Given the description of an element on the screen output the (x, y) to click on. 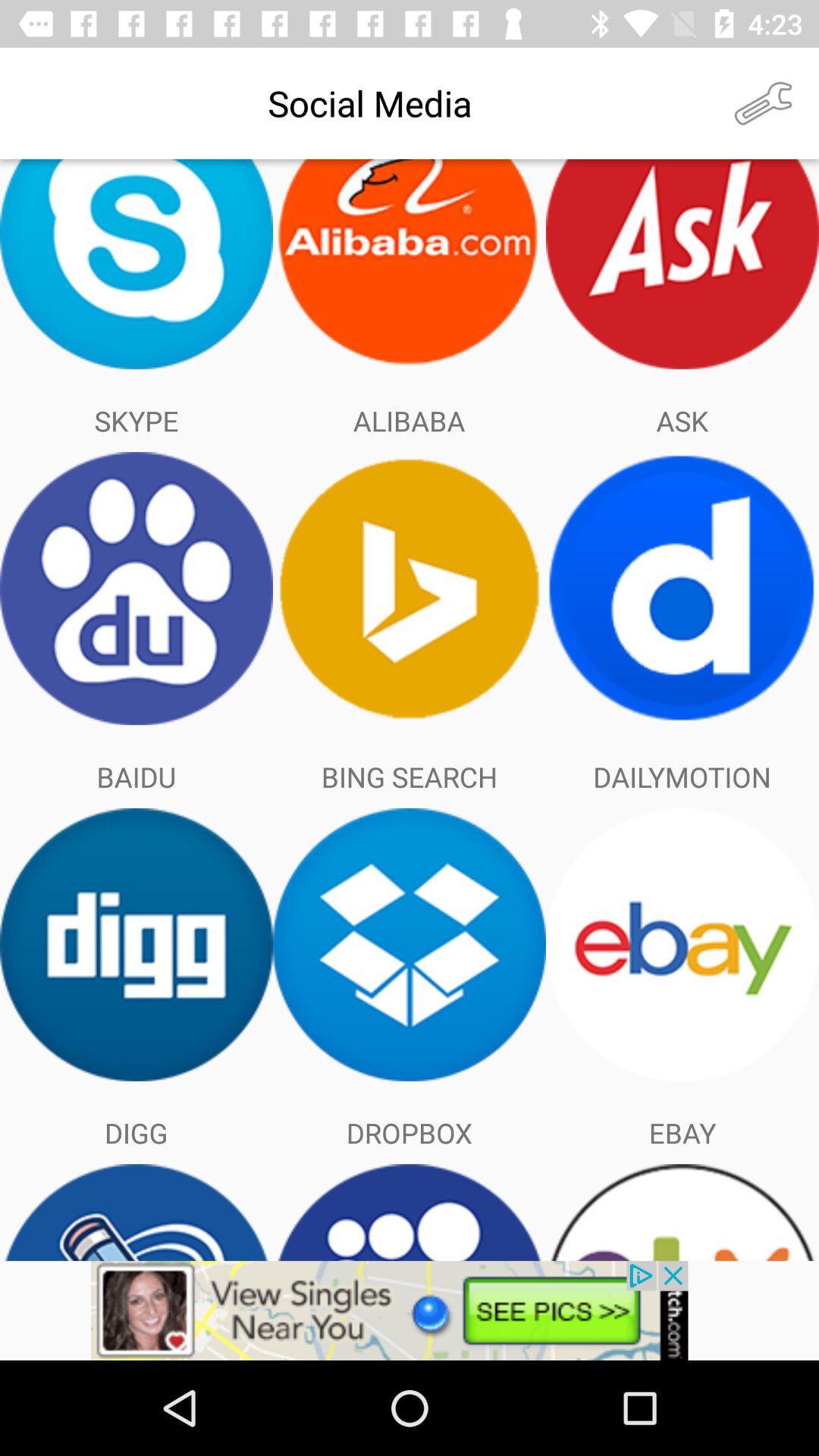
add image (409, 1310)
